Given the description of an element on the screen output the (x, y) to click on. 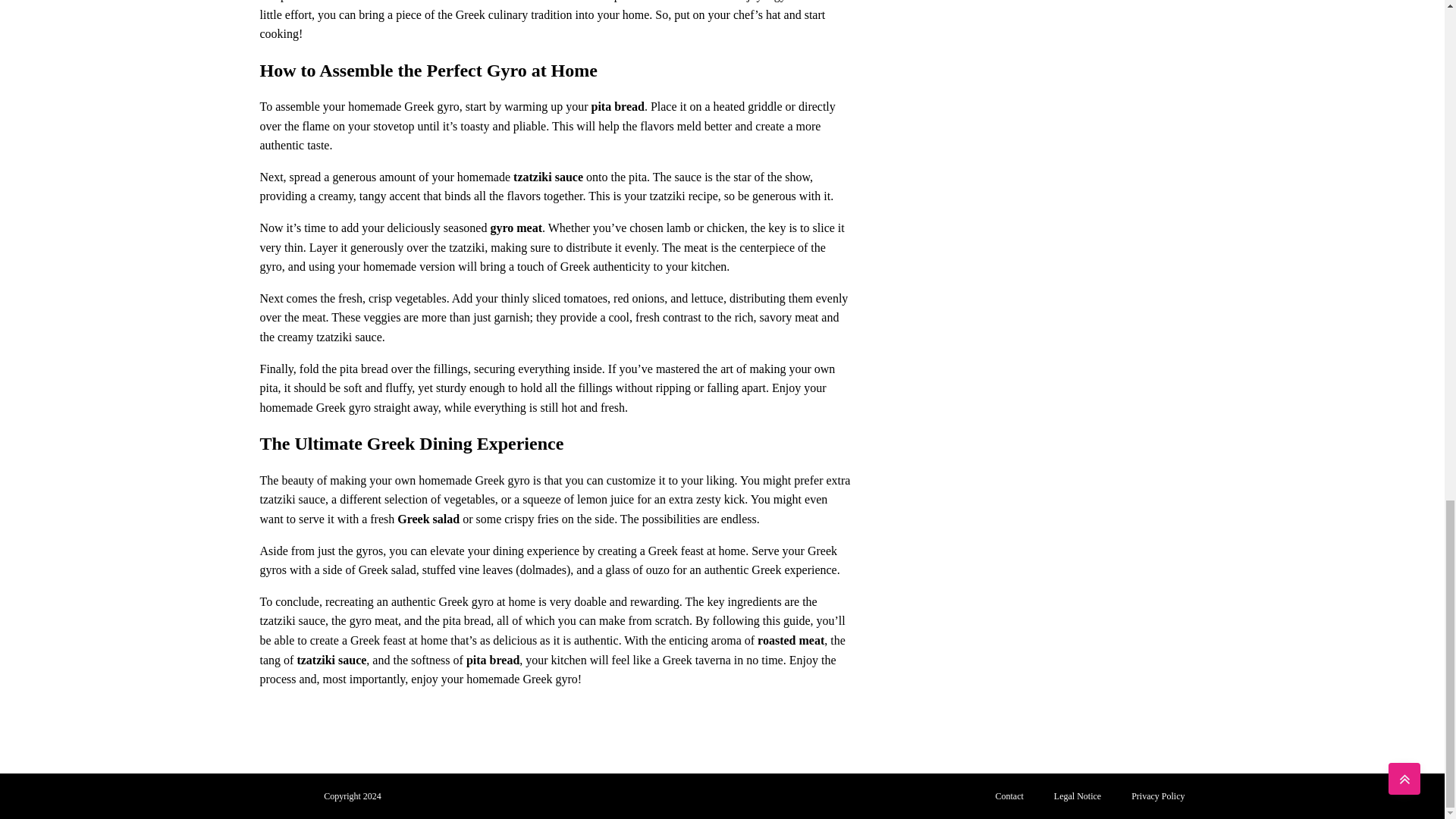
Privacy Policy (1157, 796)
Legal Notice (1077, 796)
Contact (1009, 796)
